Given the description of an element on the screen output the (x, y) to click on. 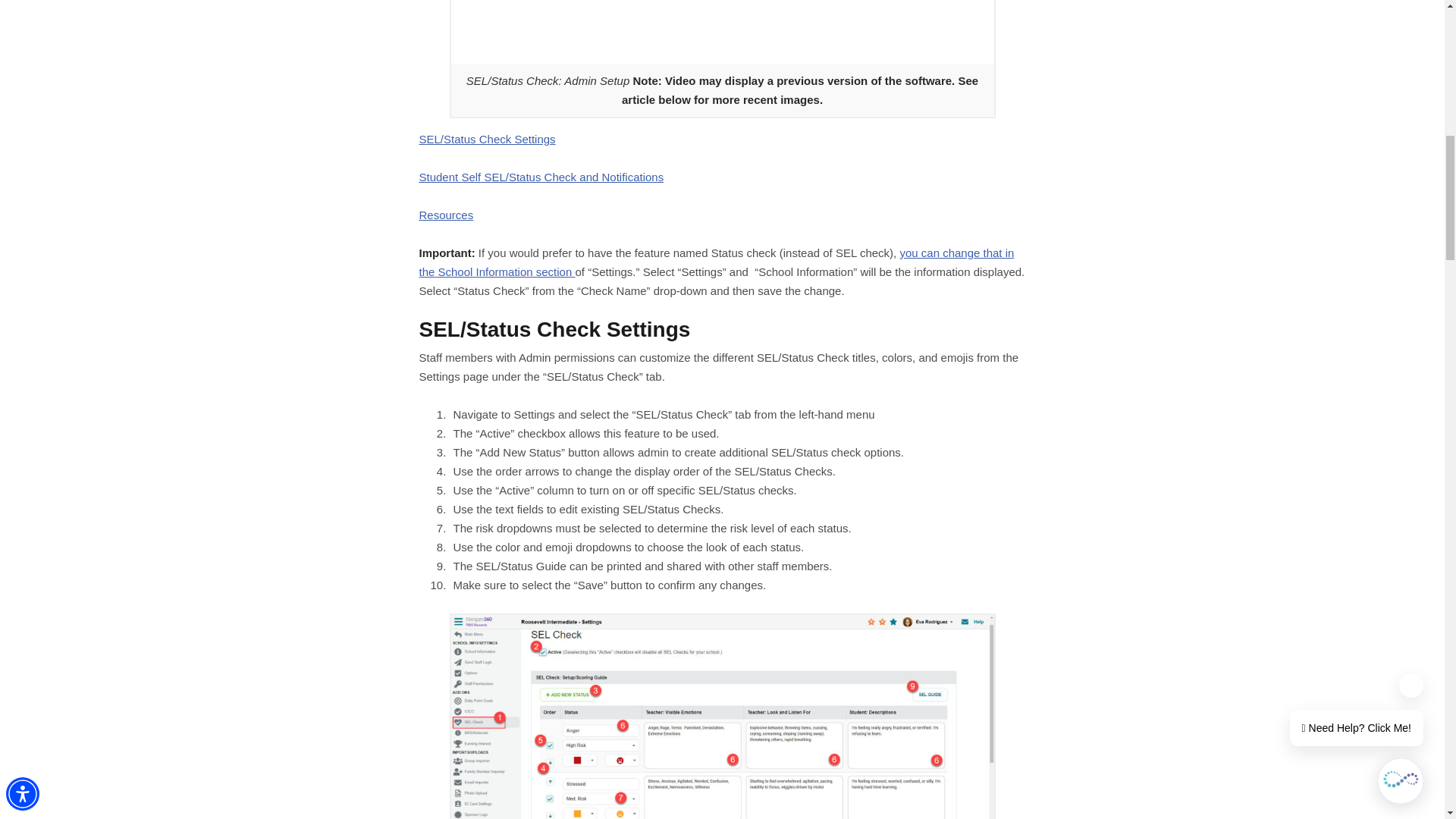
SEL: Admin Setup (720, 33)
